Given the description of an element on the screen output the (x, y) to click on. 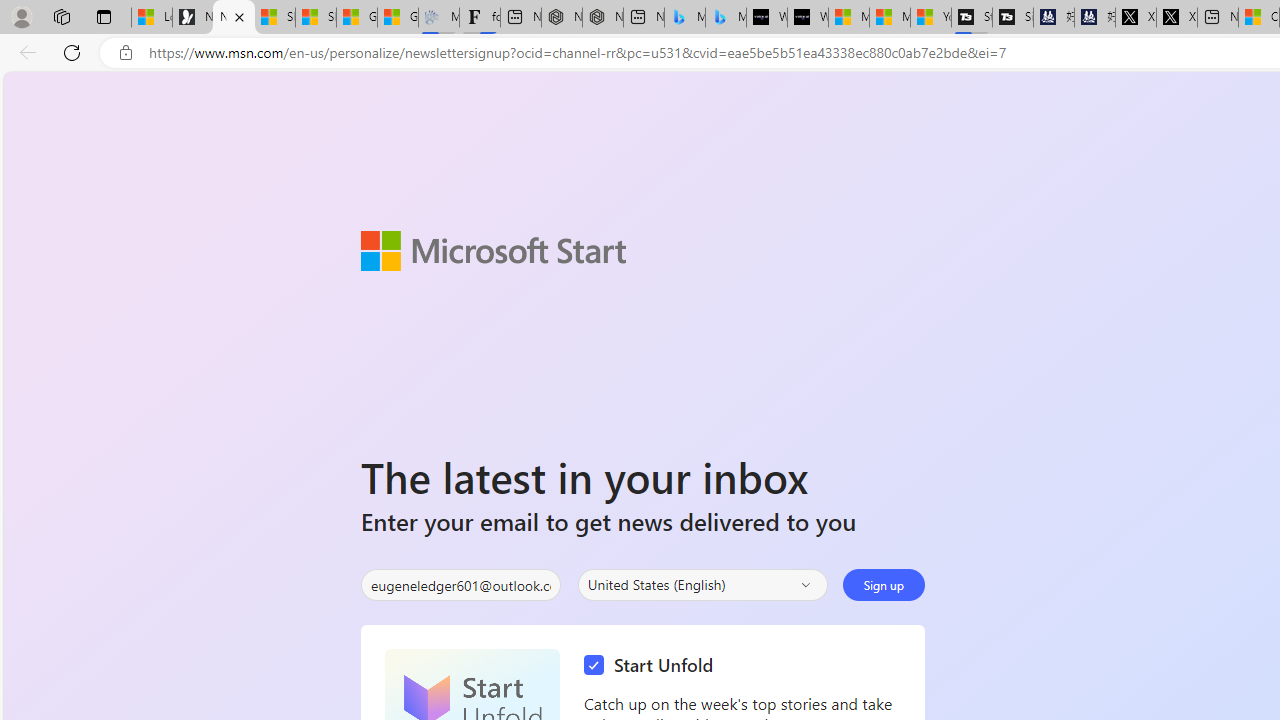
Microsoft Bing Travel - Stays in Bangkok, Bangkok, Thailand (684, 17)
Select your country (702, 584)
Gilma and Hector both pose tropical trouble for Hawaii (397, 17)
Nordace - #1 Japanese Best-Seller - Siena Smart Backpack (602, 17)
Shanghai, China weather forecast | Microsoft Weather (315, 17)
X (1176, 17)
What's the best AI voice generator? - voice.ai (808, 17)
Microsoft Start Sports (849, 17)
Newsletter Sign Up (233, 17)
